Given the description of an element on the screen output the (x, y) to click on. 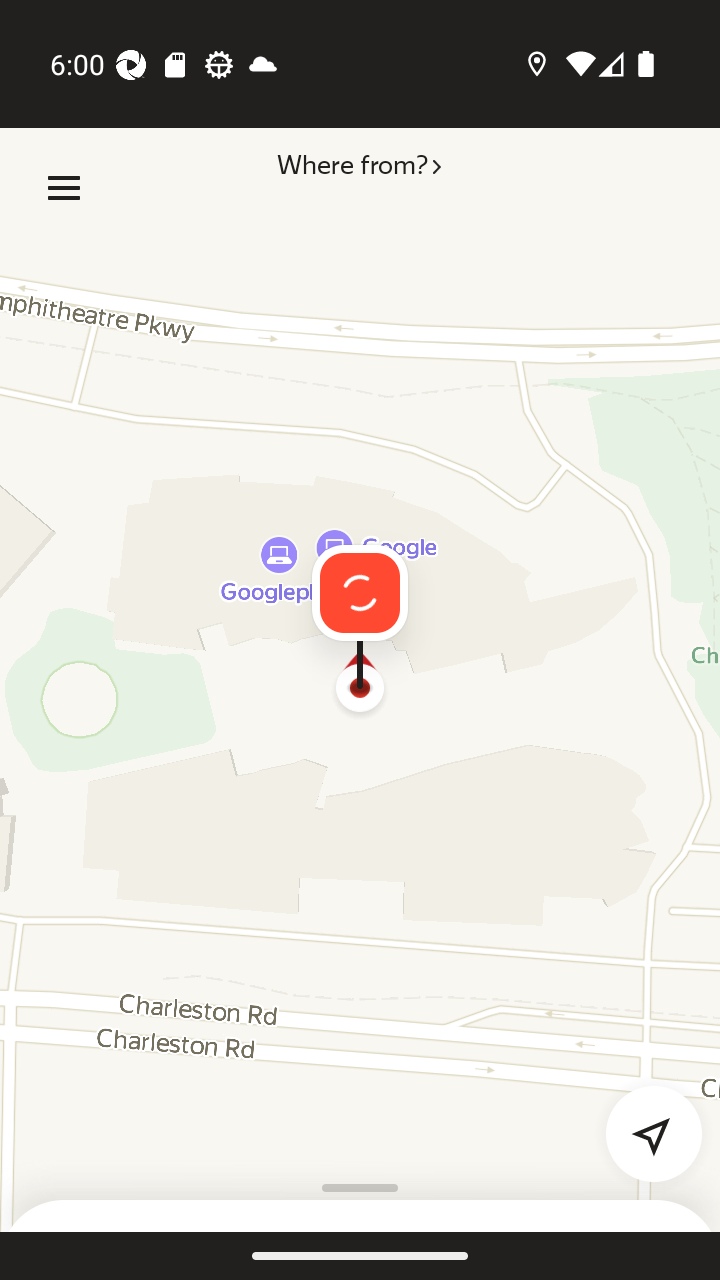
Menu Menu Menu (64, 188)
Where from?   (358, 188)
Detect my location (641, 1122)
